Given the description of an element on the screen output the (x, y) to click on. 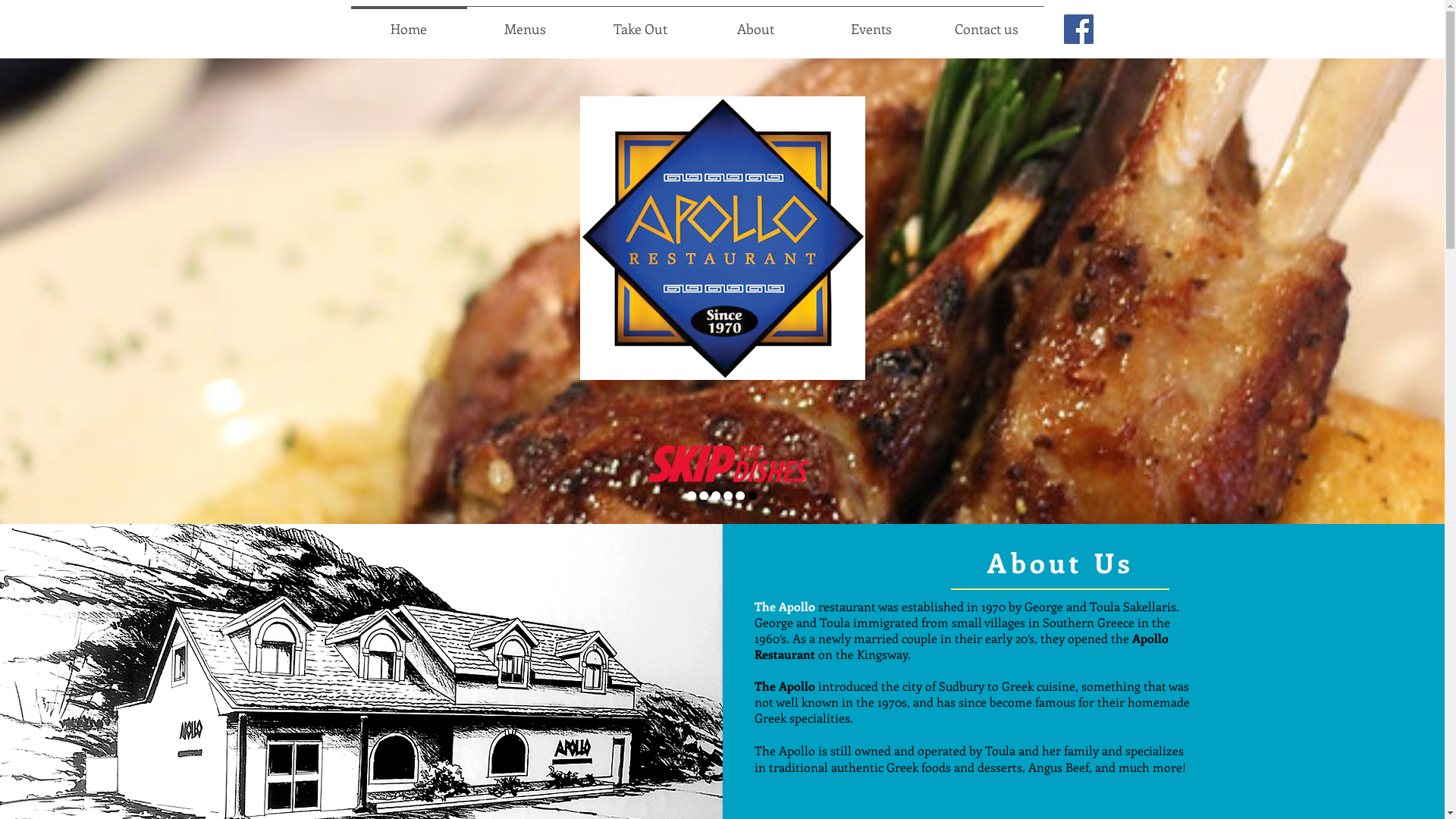
About Element type: text (754, 21)
Menus Element type: text (525, 21)
Home Element type: text (408, 21)
Take Out Element type: text (639, 21)
Events Element type: text (870, 21)
Contact us Element type: text (985, 21)
